Given the description of an element on the screen output the (x, y) to click on. 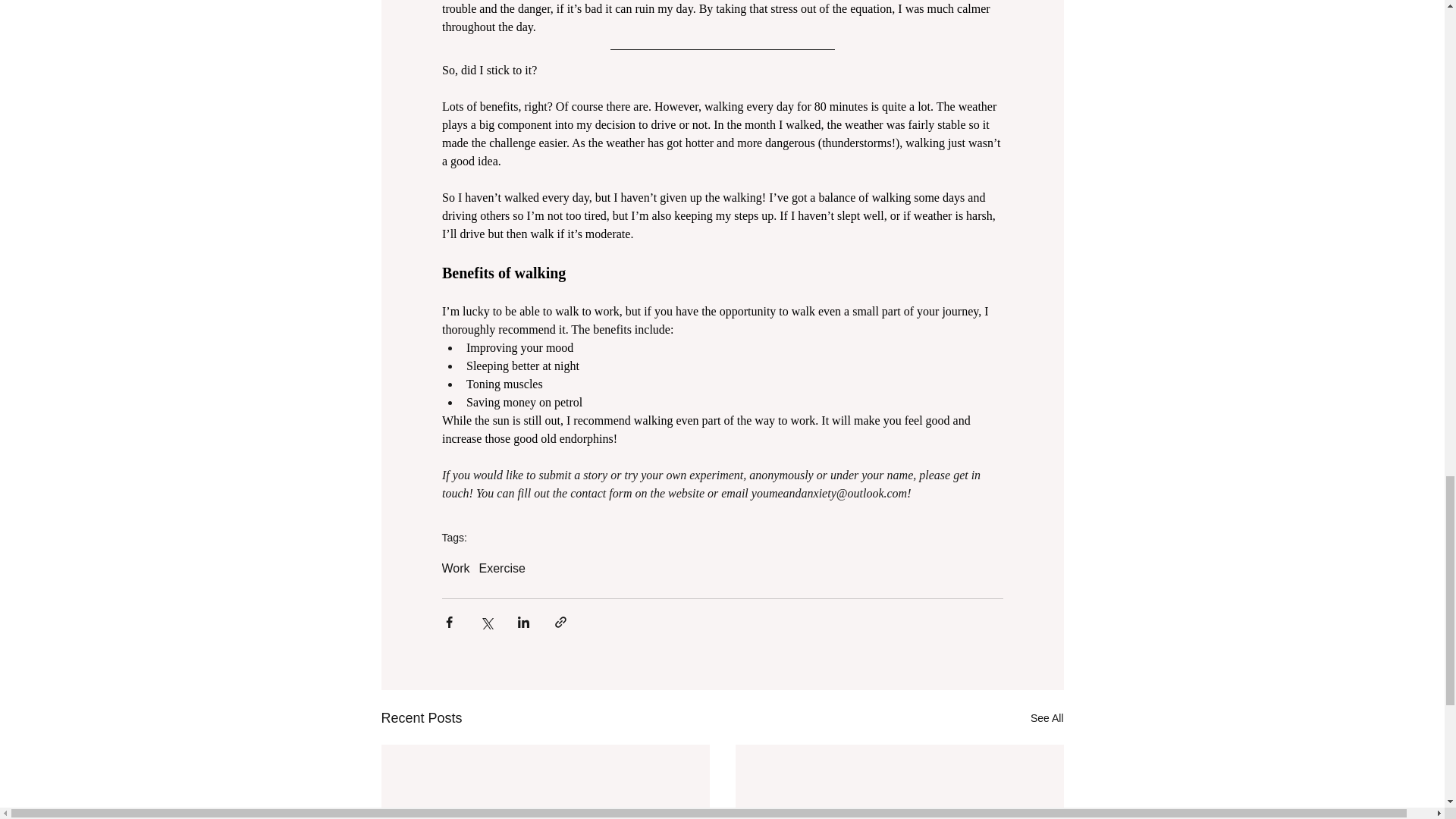
Work (454, 568)
See All (1047, 718)
Exercise (502, 568)
